Given the description of an element on the screen output the (x, y) to click on. 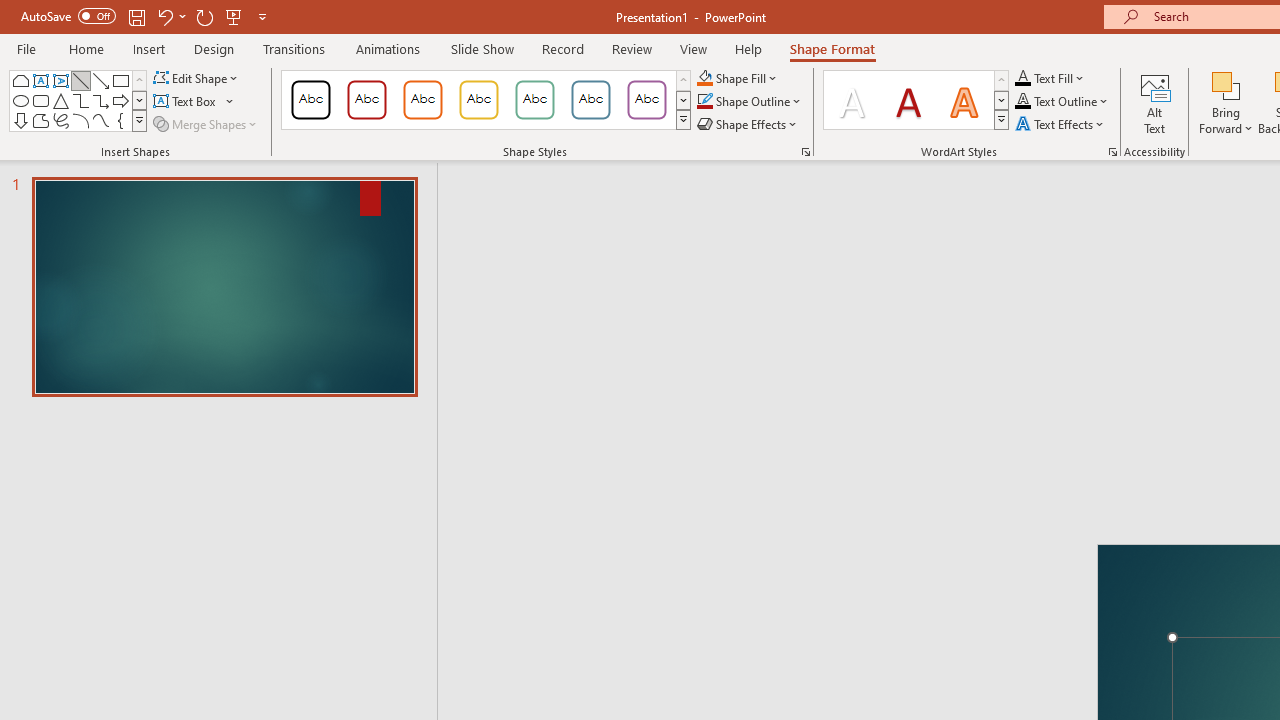
Colored Outline - Purple, Accent 6 (646, 100)
Colored Outline - Gold, Accent 3 (478, 100)
Alt Text (1155, 102)
Colored Outline - Dark Red, Accent 1 (367, 100)
Rectangle (120, 80)
Format Object... (805, 151)
Text Outline (1062, 101)
Shape Outline Blue, Accent 1 (704, 101)
Fill: White, Text color 1; Shadow (852, 100)
AutomationID: ShapesInsertGallery (78, 100)
